Given the description of an element on the screen output the (x, y) to click on. 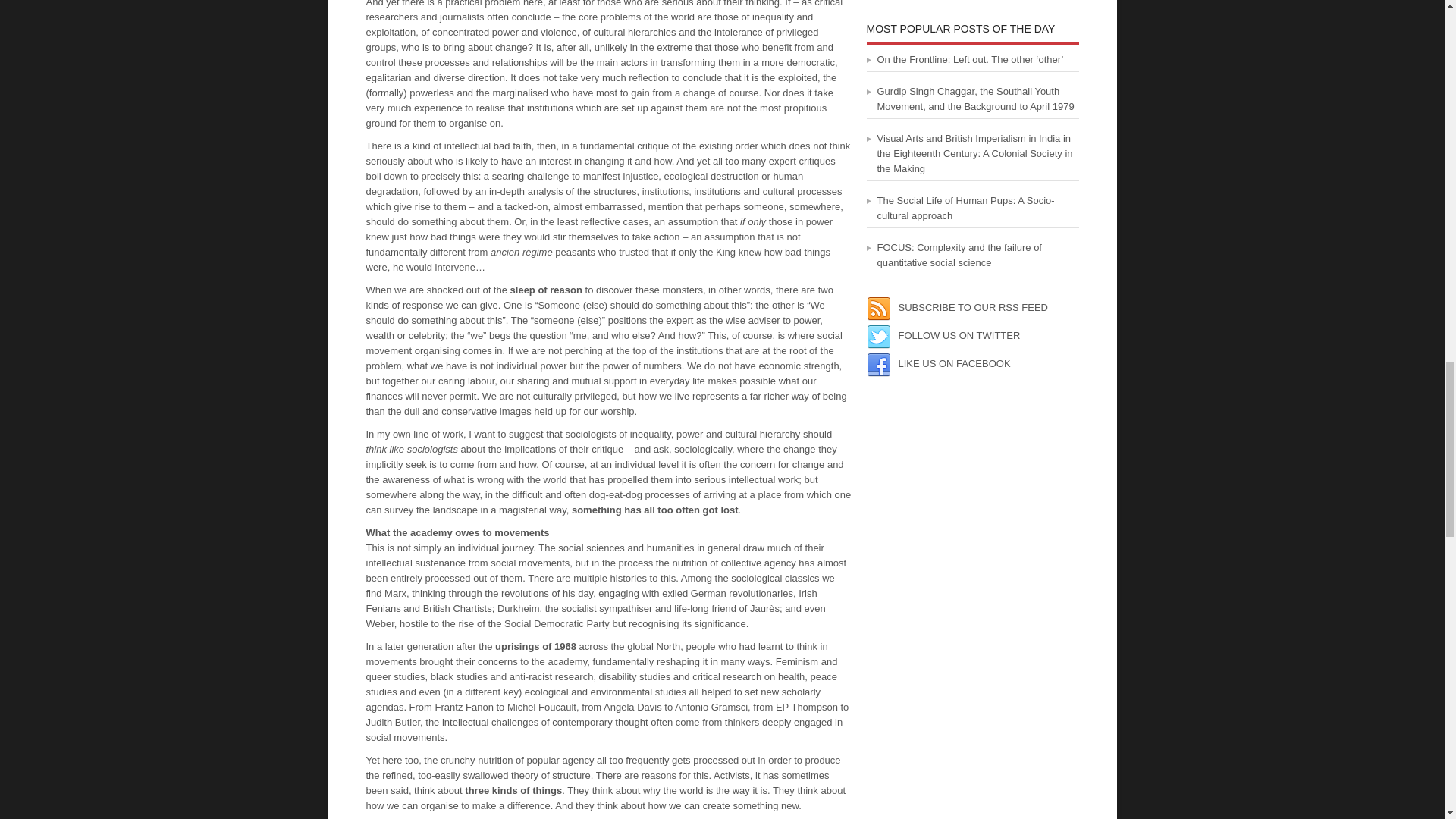
something has all too often got lost (655, 509)
sleep of reason (546, 288)
three kinds of things (513, 789)
uprisings of 1968 (535, 645)
